Given the description of an element on the screen output the (x, y) to click on. 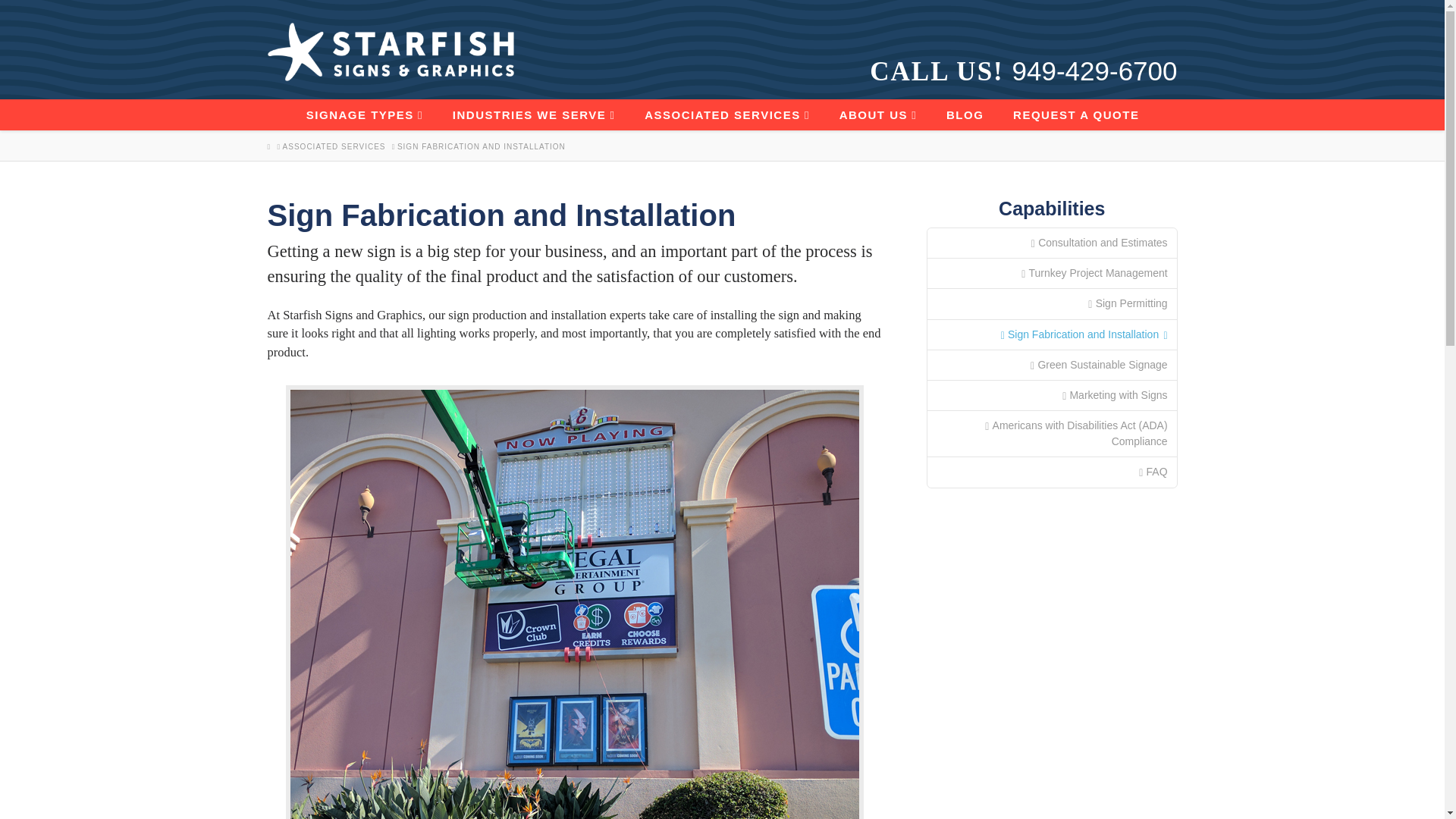
INDUSTRIES WE SERVE (533, 114)
ASSOCIATED SERVICES (726, 114)
You Are Here (481, 146)
SIGNAGE TYPES (364, 114)
